Given the description of an element on the screen output the (x, y) to click on. 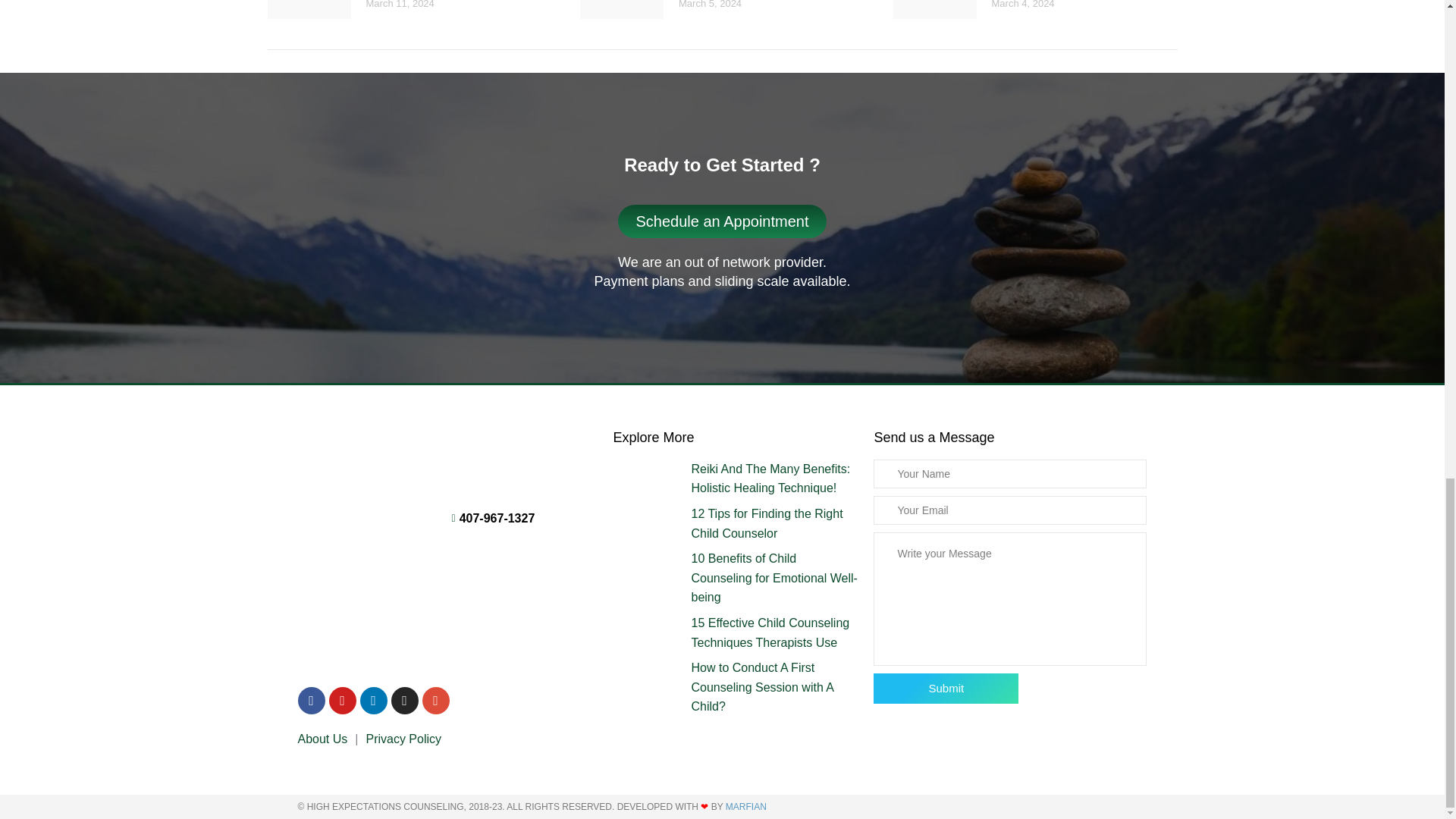
Submit (945, 688)
